Given the description of an element on the screen output the (x, y) to click on. 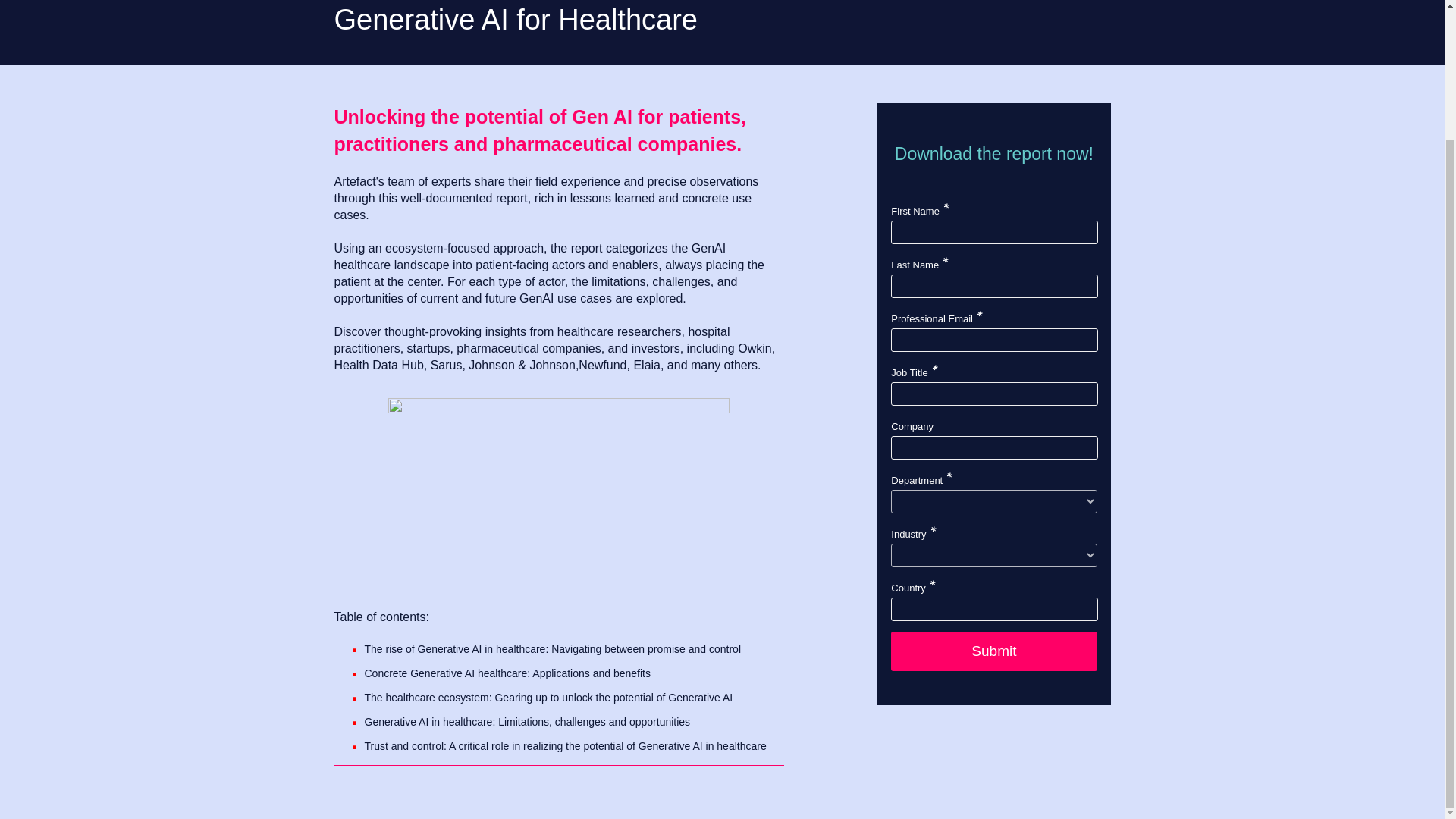
Submit (993, 650)
Submit (993, 650)
